Given the description of an element on the screen output the (x, y) to click on. 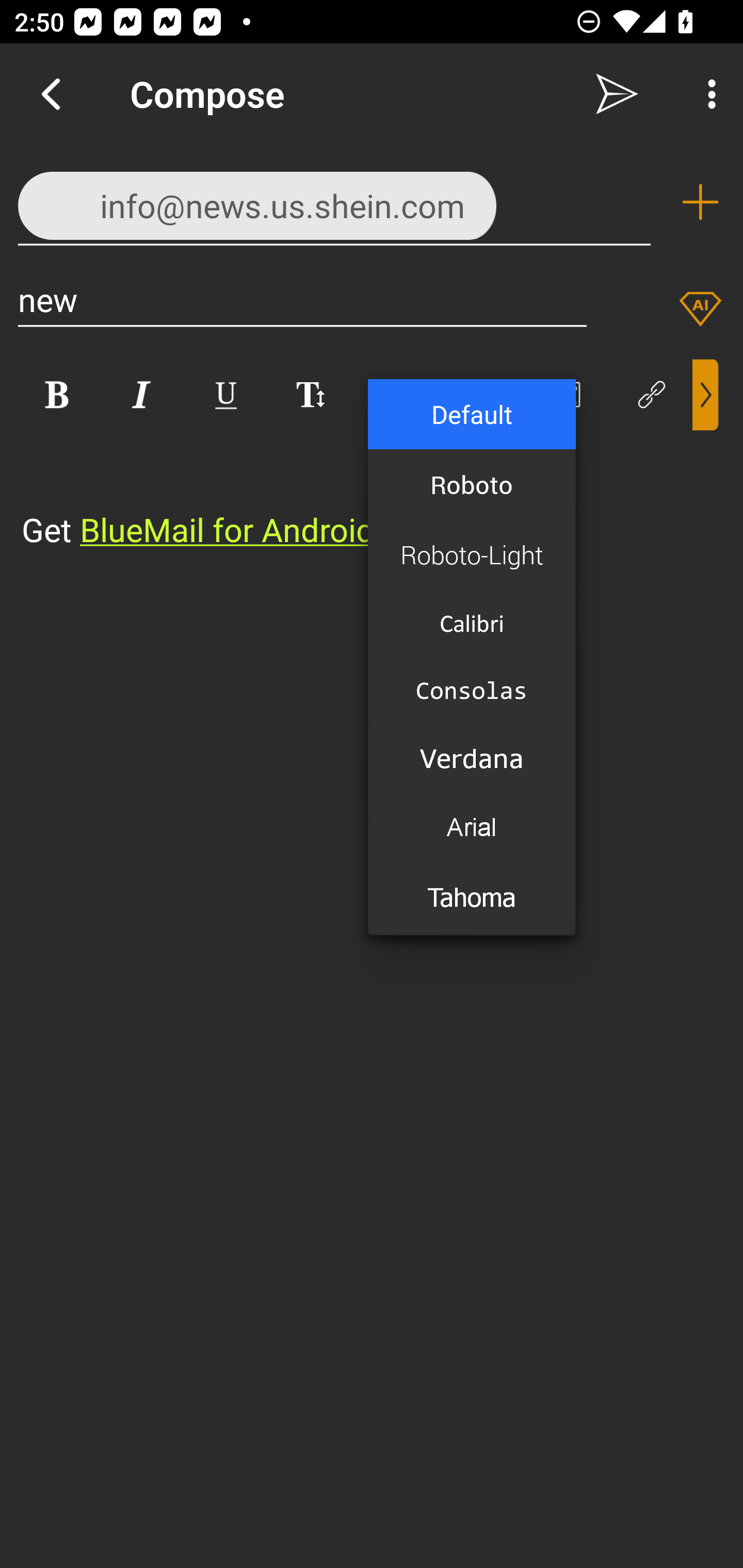
Default (471, 414)
Roboto (471, 484)
Roboto-Light (471, 554)
Calibri (471, 622)
Consolas (471, 690)
Verdana (471, 757)
Arial (471, 826)
Tahoma (471, 899)
